Given the description of an element on the screen output the (x, y) to click on. 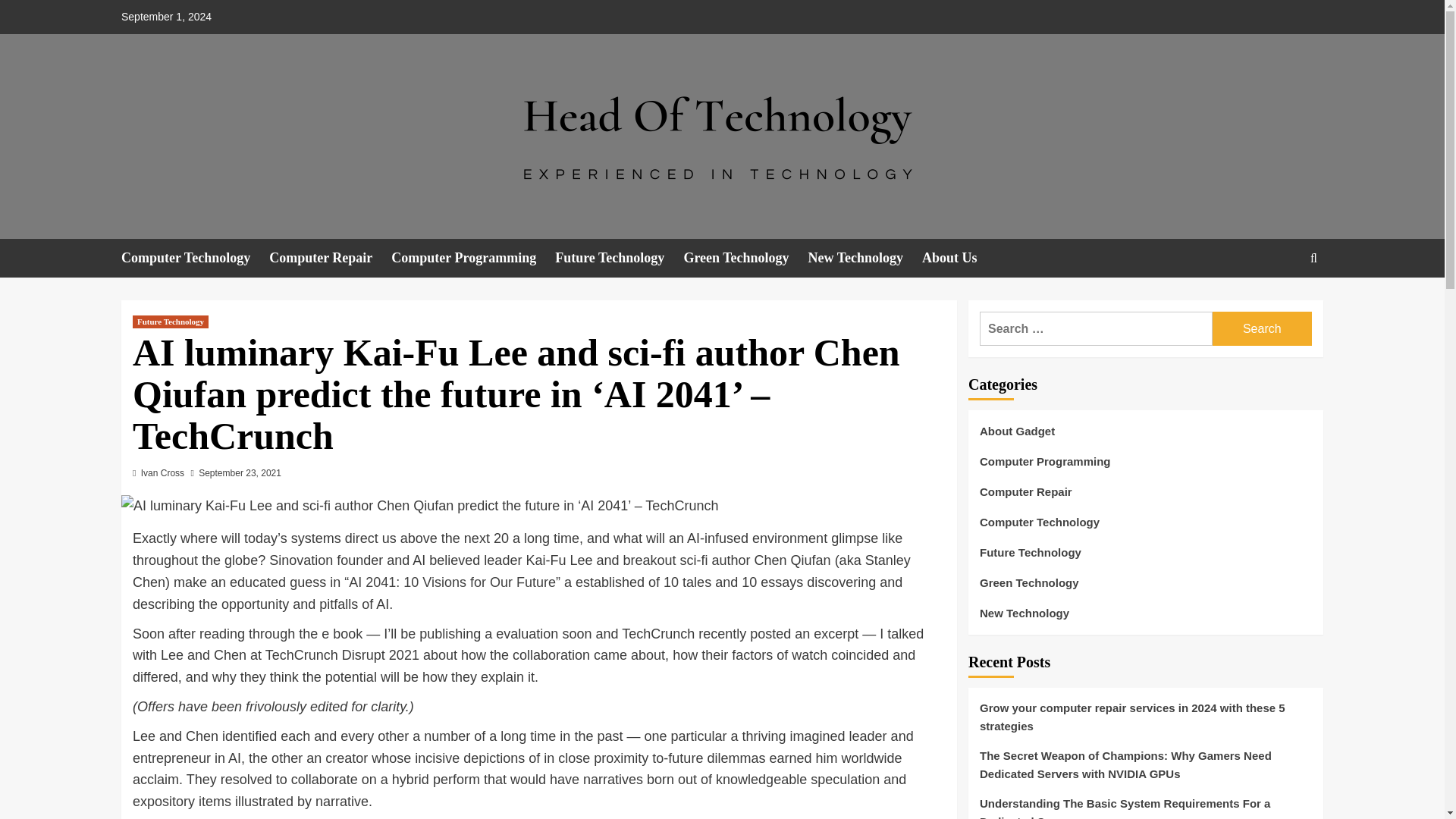
Future Technology (170, 321)
Computer Repair (330, 258)
Search (1261, 328)
Ivan Cross (162, 472)
September 23, 2021 (239, 472)
Search (1278, 305)
Green Technology (745, 258)
About Us (958, 258)
New Technology (865, 258)
Computer Programming (472, 258)
